Given the description of an element on the screen output the (x, y) to click on. 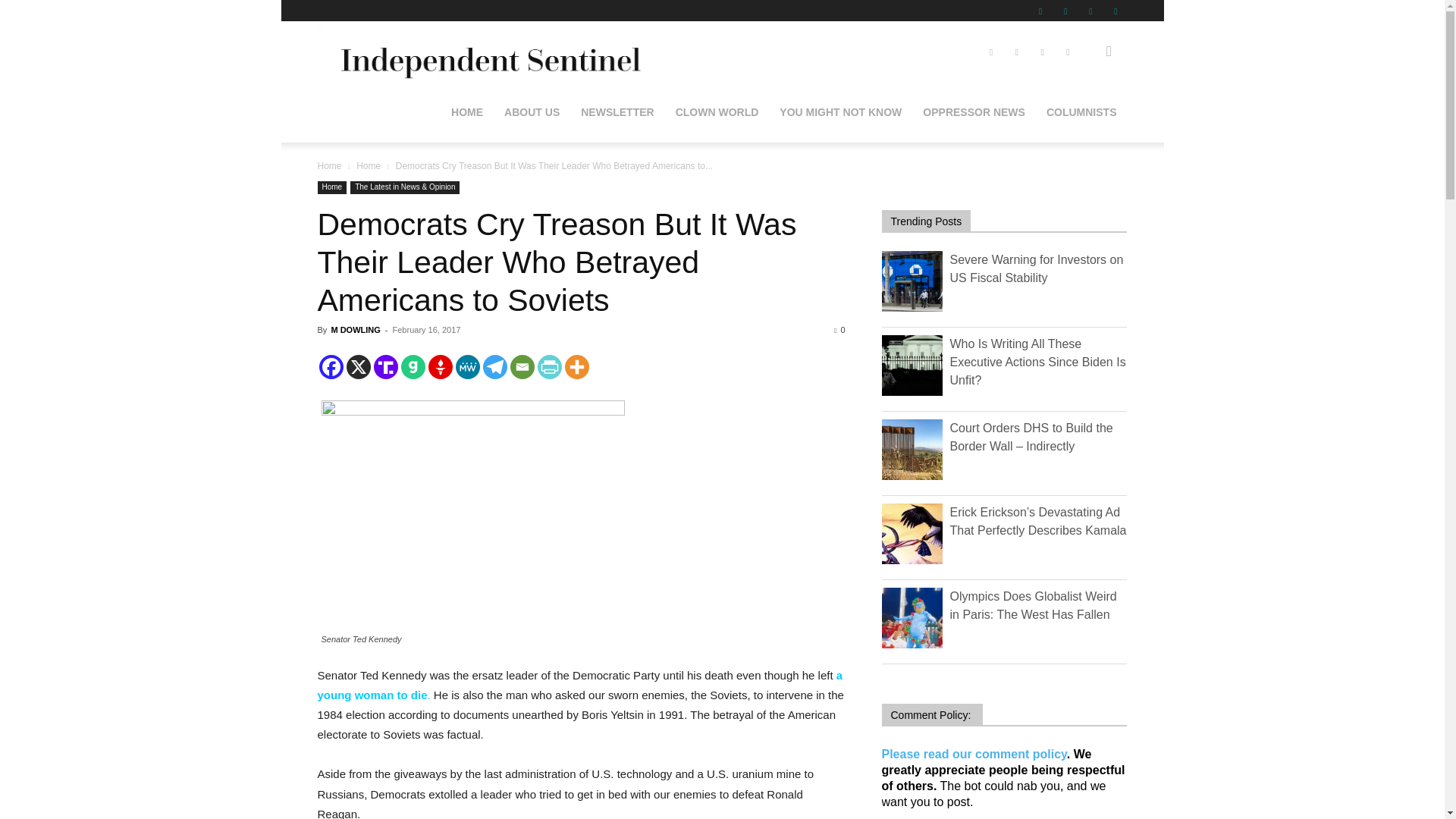
Pinterest (1065, 10)
CLOWN WORLD (717, 111)
ABOUT US (531, 111)
Search (1085, 124)
OPPRESSOR NEWS (973, 111)
NEWSLETTER (616, 111)
Twitter (1090, 10)
Youtube (1114, 10)
Facebook (1040, 10)
www.independentsentinel.com (487, 51)
